Given the description of an element on the screen output the (x, y) to click on. 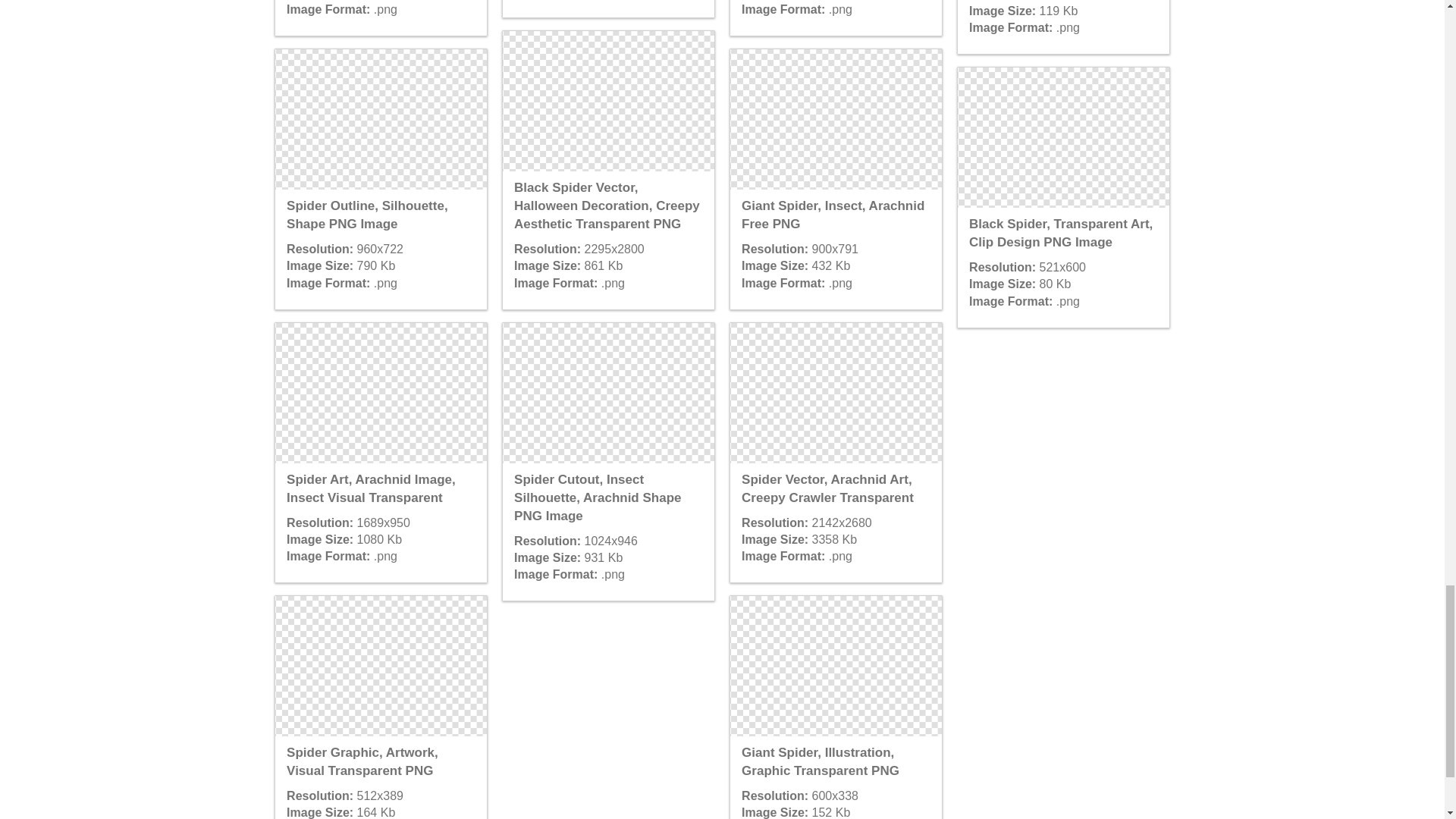
Spider Art, Arachnid Image, Insect Visual Transparent (380, 392)
Spider Cutout, Insect Silhouette, Arachnid Shape PNG Image (607, 392)
Spider Outline, Silhouette, Shape PNG Image (380, 119)
Spider Graphic, Artwork, Visual Transparent PNG (380, 666)
